Given the description of an element on the screen output the (x, y) to click on. 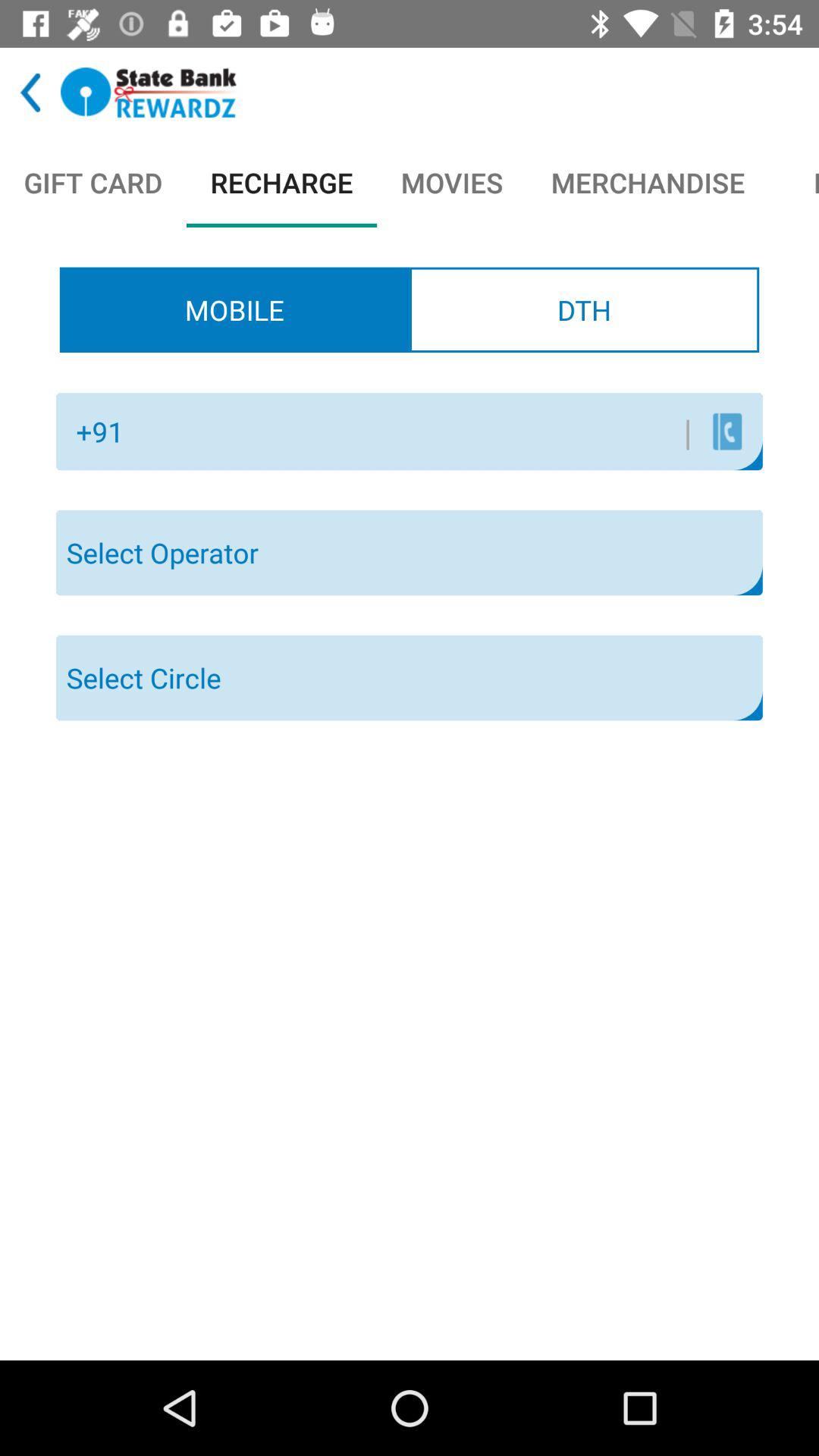
open icon next to the mobile icon (584, 309)
